Given the description of an element on the screen output the (x, y) to click on. 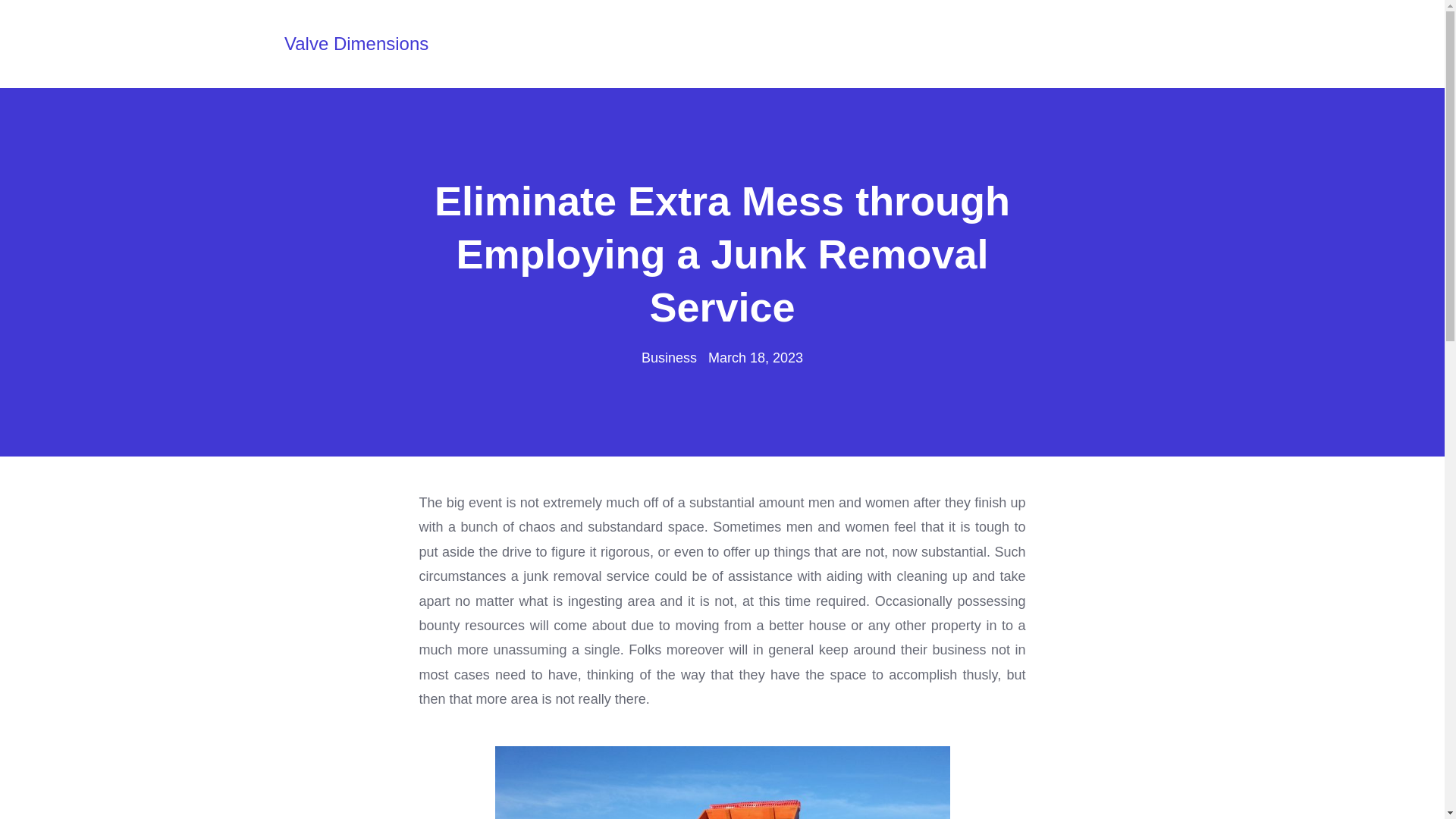
Search (59, 16)
Valve Dimensions (355, 43)
Business (669, 357)
